Given the description of an element on the screen output the (x, y) to click on. 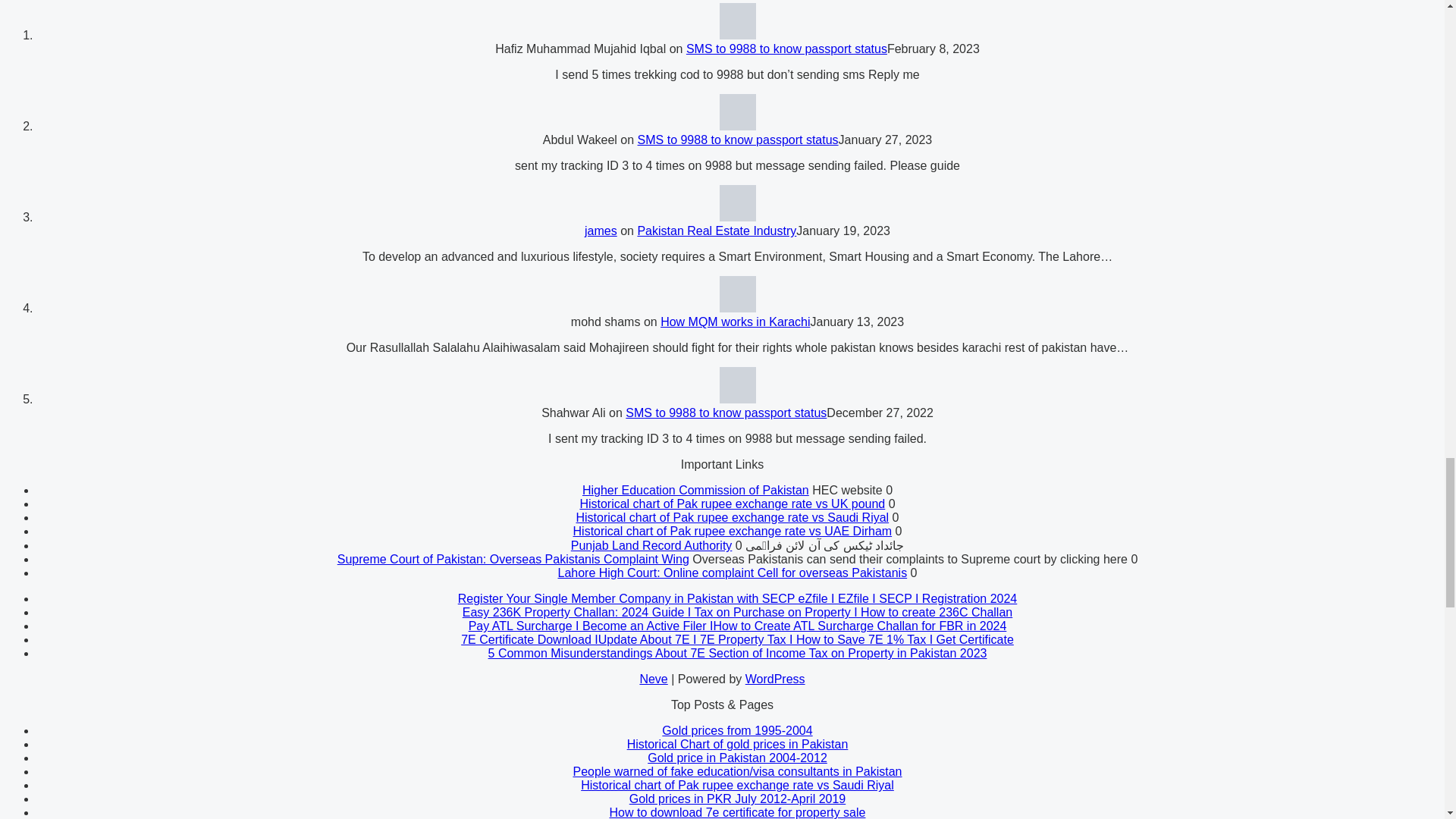
HEC website (695, 490)
